Given the description of an element on the screen output the (x, y) to click on. 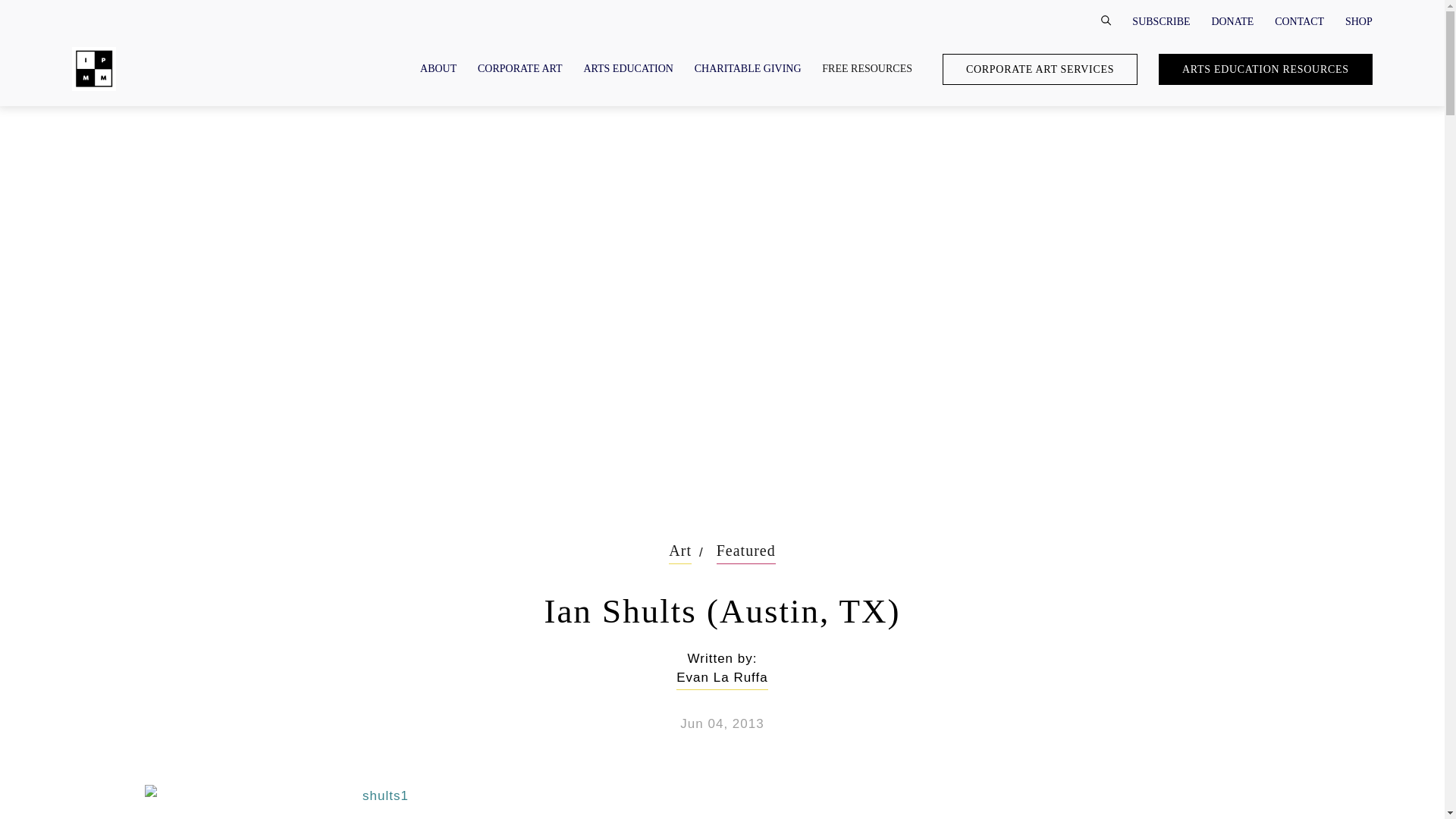
ABOUT (438, 68)
FREE RESOURCES (867, 68)
ARTS EDUCATION RESOURCES (1265, 69)
CONTACT (1299, 20)
CORPORATE ART (519, 68)
CORPORATE ART SERVICES (1039, 69)
DONATE (1232, 20)
CHARITABLE GIVING (748, 68)
ARTS EDUCATION (627, 68)
SUBSCRIBE (1160, 20)
